Given the description of an element on the screen output the (x, y) to click on. 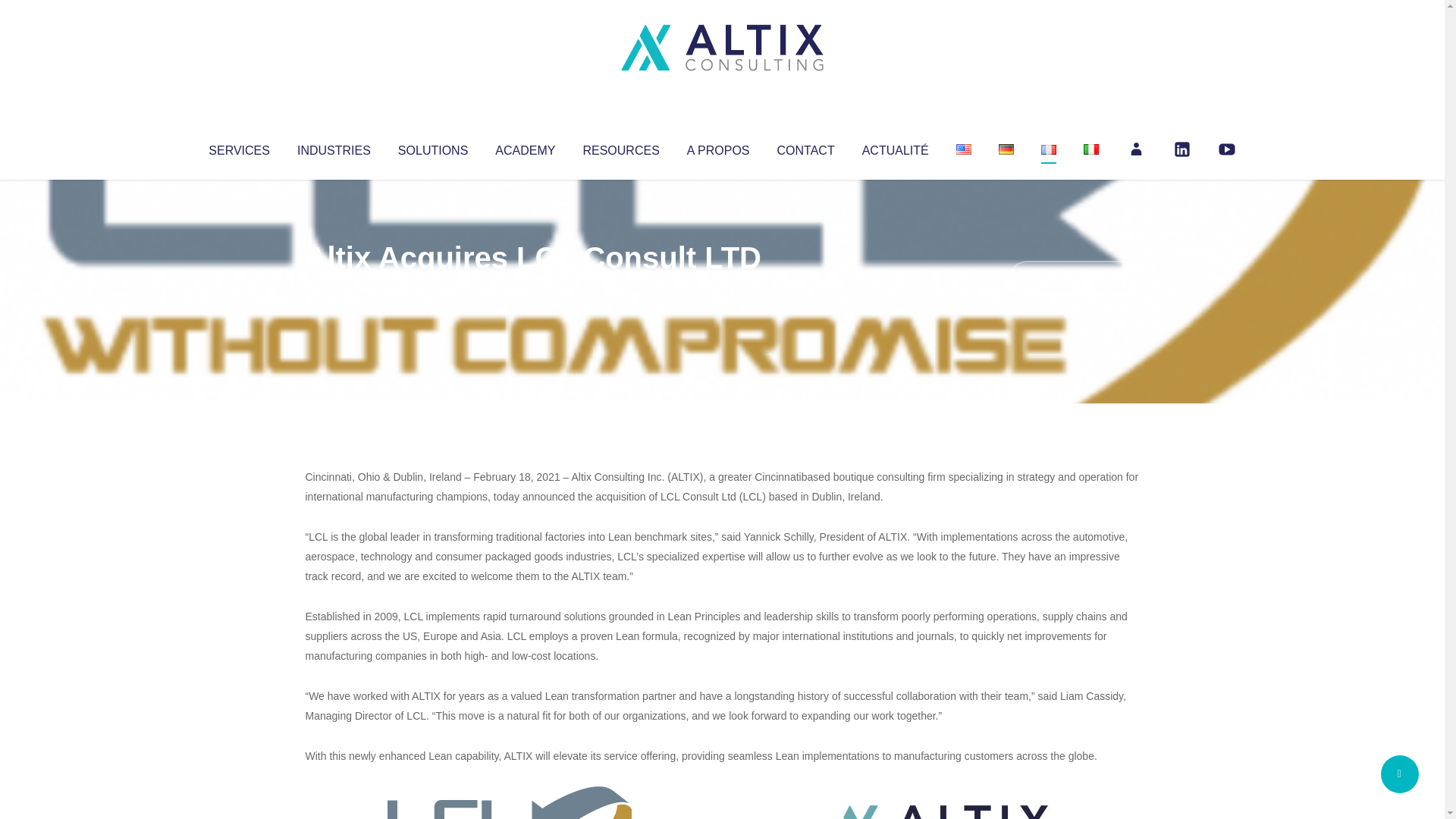
SERVICES (238, 146)
Altix (333, 287)
SOLUTIONS (432, 146)
RESOURCES (620, 146)
INDUSTRIES (334, 146)
Uncategorized (530, 287)
ACADEMY (524, 146)
No Comments (1073, 278)
A PROPOS (718, 146)
Articles par Altix (333, 287)
